Given the description of an element on the screen output the (x, y) to click on. 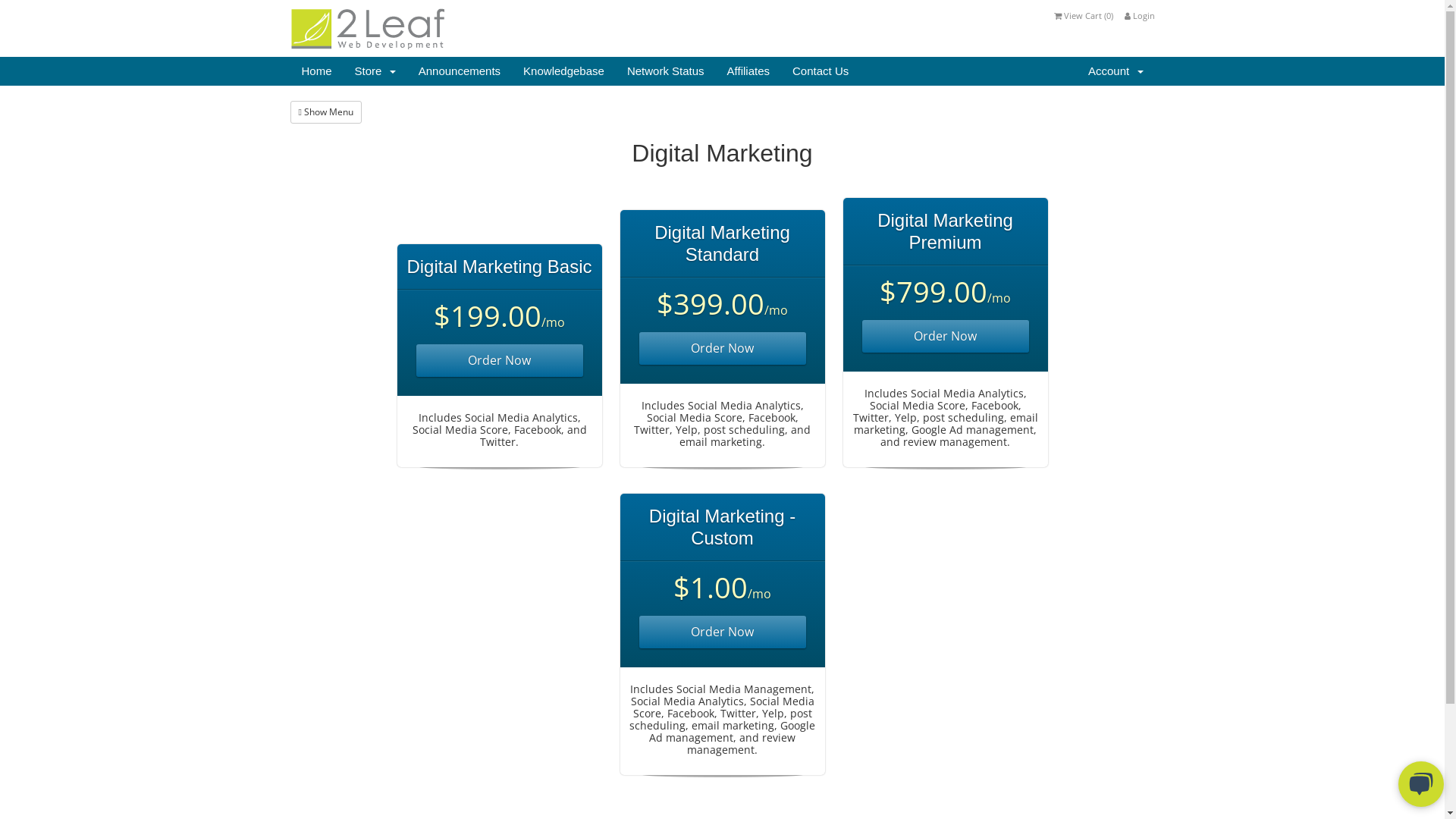
Order Now Element type: text (721, 631)
Order Now Element type: text (721, 348)
Affiliates Element type: text (748, 70)
Show Menu Element type: text (324, 111)
Login Element type: text (1138, 15)
Order Now Element type: text (944, 336)
Store   Element type: text (375, 70)
Account   Element type: text (1115, 70)
Order Now Element type: text (498, 360)
Home Element type: text (315, 70)
Network Status Element type: text (665, 70)
Contact Us Element type: text (820, 70)
Announcements Element type: text (459, 70)
Knowledgebase Element type: text (563, 70)
View Cart (0) Element type: text (1083, 15)
